Given the description of an element on the screen output the (x, y) to click on. 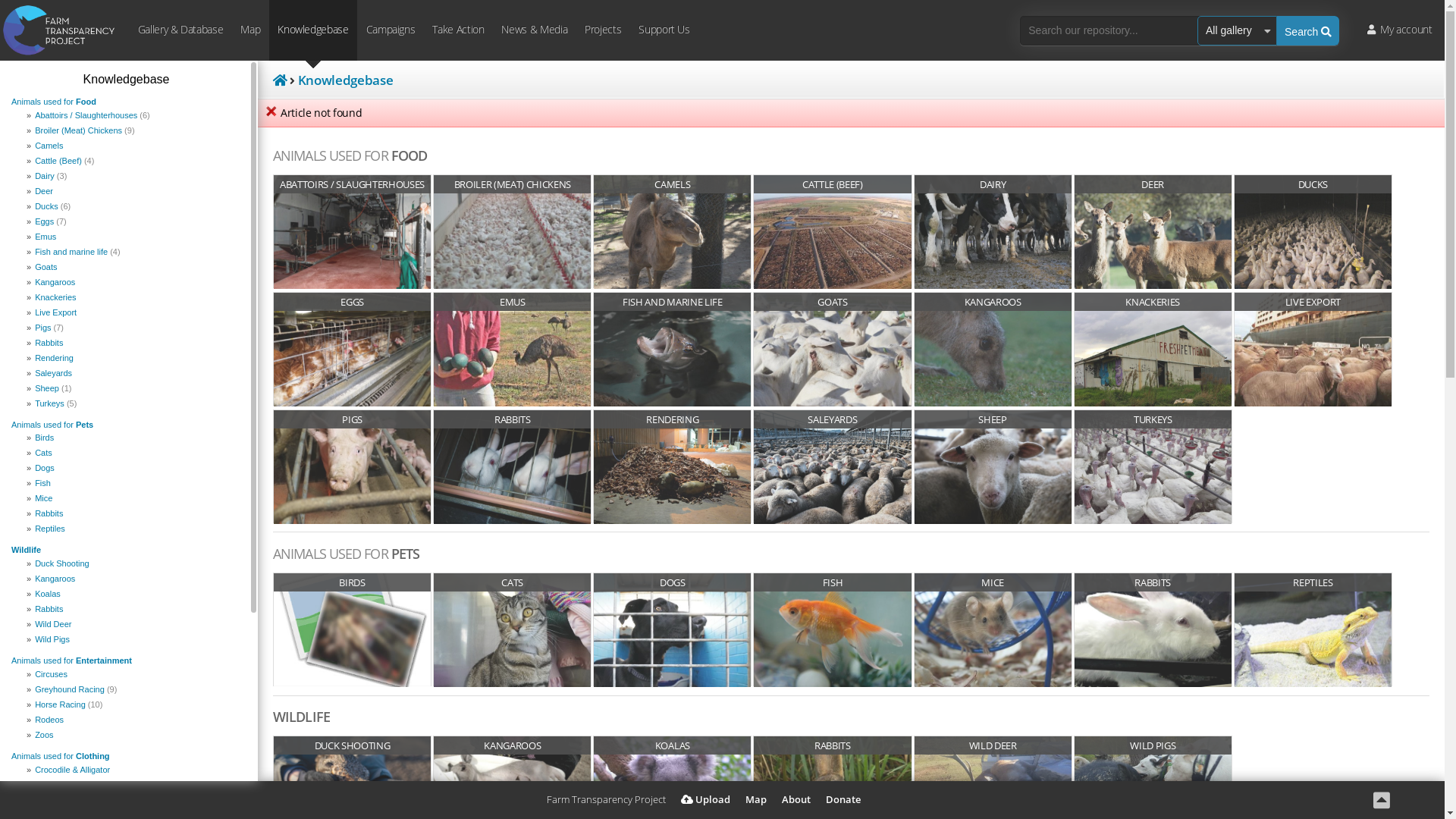
Dairy (3) Element type: text (134, 176)
Kangaroos Element type: text (134, 282)
Kangaroos Element type: text (134, 578)
Camels Element type: text (134, 145)
Mice Element type: text (134, 498)
Rabbits Element type: text (134, 609)
Cats Element type: text (134, 452)
Crocodile & Alligator Element type: text (134, 769)
Support Us Element type: text (664, 30)
Map Element type: text (250, 30)
Greyhound Racing (9) Element type: text (134, 689)
Horse Racing (10) Element type: text (134, 704)
Pigs (7) Element type: text (134, 327)
Saleyards Element type: text (134, 373)
Emus Element type: text (134, 236)
Goats Element type: text (134, 267)
Expand footer Element type: hover (1380, 799)
Donate Element type: text (842, 799)
Search Element type: text (1308, 29)
Abattoirs / Slaughterhouses (6) Element type: text (134, 115)
Gallery & Database Element type: text (180, 30)
Fish and marine life (4) Element type: text (134, 251)
Animals used for Food Element type: text (53, 101)
News & Media Element type: text (534, 30)
Knackeries Element type: text (134, 297)
Duck Shooting Element type: text (134, 563)
Knowledgebase Element type: text (345, 79)
Sheep (1) Element type: text (134, 388)
Map Element type: text (754, 799)
Rendering Element type: text (134, 358)
Rabbits Element type: text (134, 513)
Animals used for Pets Element type: text (52, 424)
Zoos Element type: text (134, 734)
ANIMALS USED FOR FOOD Element type: text (349, 155)
Upload Element type: text (705, 799)
My account Element type: text (1399, 30)
Circuses Element type: text (134, 674)
Dogs Element type: text (134, 467)
Rabbits Element type: text (134, 342)
Turkeys (5) Element type: text (134, 403)
Rodeos Element type: text (134, 719)
Fish Element type: text (134, 483)
WILDLIFE Element type: text (301, 716)
Knowledgebase Element type: text (126, 78)
Take Action Element type: text (457, 30)
Broiler (Meat) Chickens (9) Element type: text (134, 130)
Birds Element type: text (134, 437)
Cattle (Beef) (4) Element type: text (134, 160)
Campaigns Element type: text (390, 30)
Fur Element type: text (134, 784)
Reptiles Element type: text (134, 528)
Eggs (7) Element type: text (134, 221)
Wildlife Element type: text (25, 549)
Deer Element type: text (134, 191)
Live Export Element type: text (134, 312)
Animals used for Clothing Element type: text (60, 755)
Wild Deer Element type: text (134, 624)
Ducks (6) Element type: text (134, 206)
Leather Element type: text (134, 800)
Animals used for Entertainment Element type: text (71, 660)
Koalas Element type: text (134, 593)
ANIMALS USED FOR PETS Element type: text (346, 553)
Knowledgebase Element type: text (313, 30)
Wild Pigs Element type: text (134, 639)
About Element type: text (795, 799)
